Given the description of an element on the screen output the (x, y) to click on. 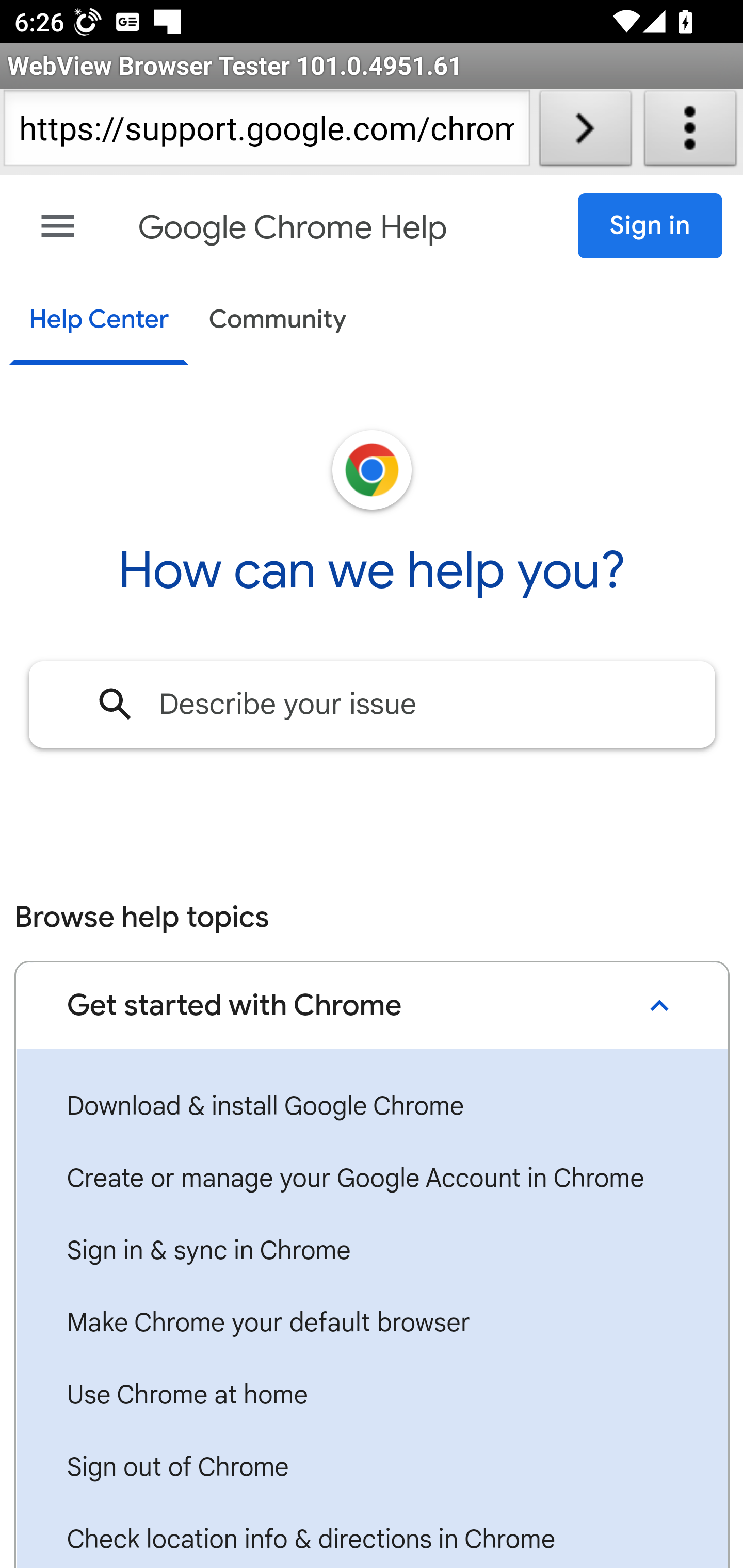
Load URL (585, 132)
About WebView (690, 132)
Main menu (58, 226)
Google Chrome Help (292, 227)
Sign in (650, 226)
Help Center (98, 320)
Community (277, 320)
Search (116, 703)
Download & install Google Chrome (371, 1106)
Create or manage your Google Account in Chrome (371, 1179)
Sign in & sync in Chrome (371, 1251)
Make Chrome your default browser (371, 1323)
Use Chrome at home (371, 1396)
Sign out of Chrome (371, 1468)
Check location info & directions in Chrome (371, 1535)
